Given the description of an element on the screen output the (x, y) to click on. 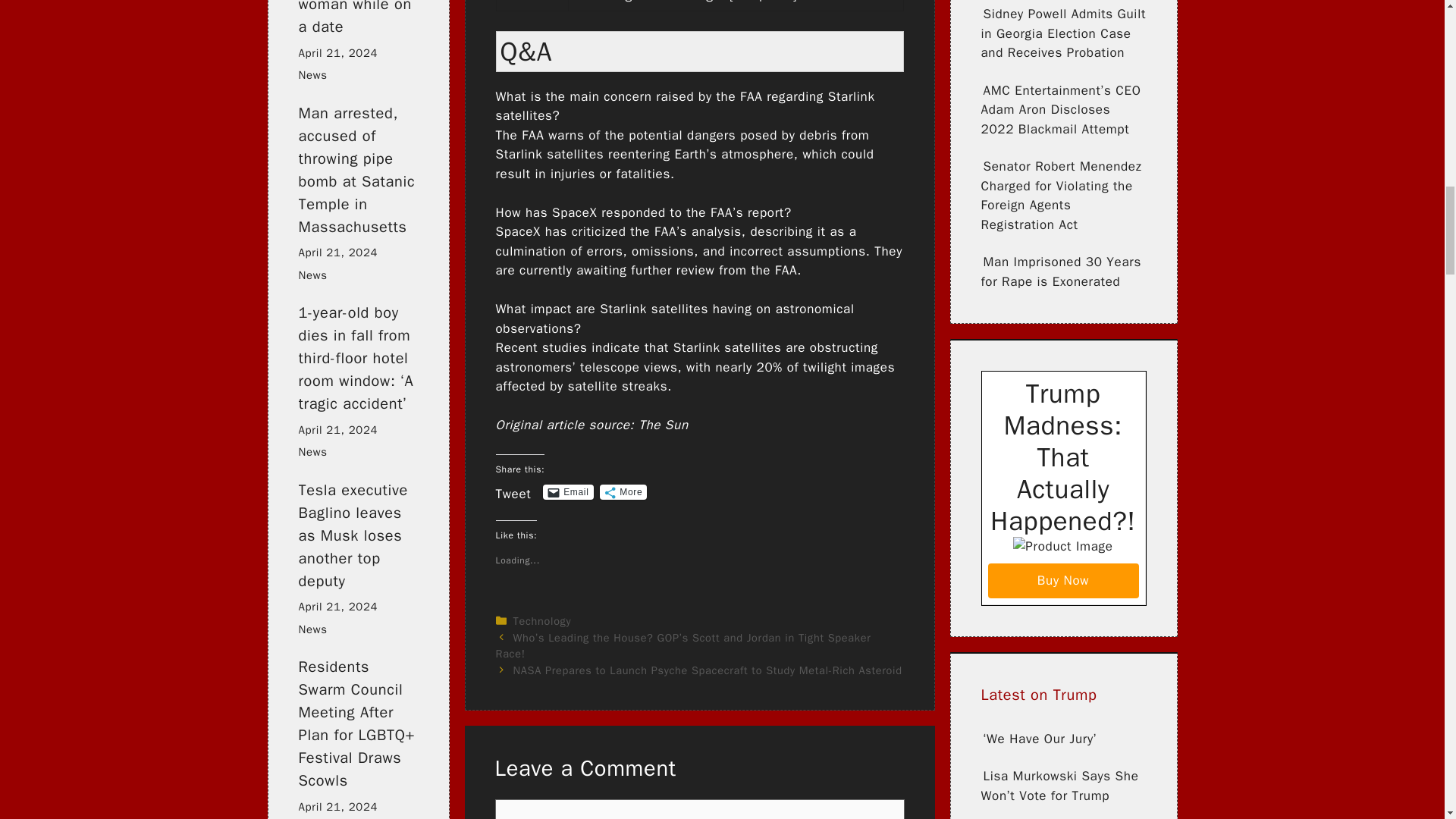
Click to email a link to a friend (567, 491)
Tweet (513, 490)
Email (567, 491)
More (623, 491)
The Sun (663, 424)
